Given the description of an element on the screen output the (x, y) to click on. 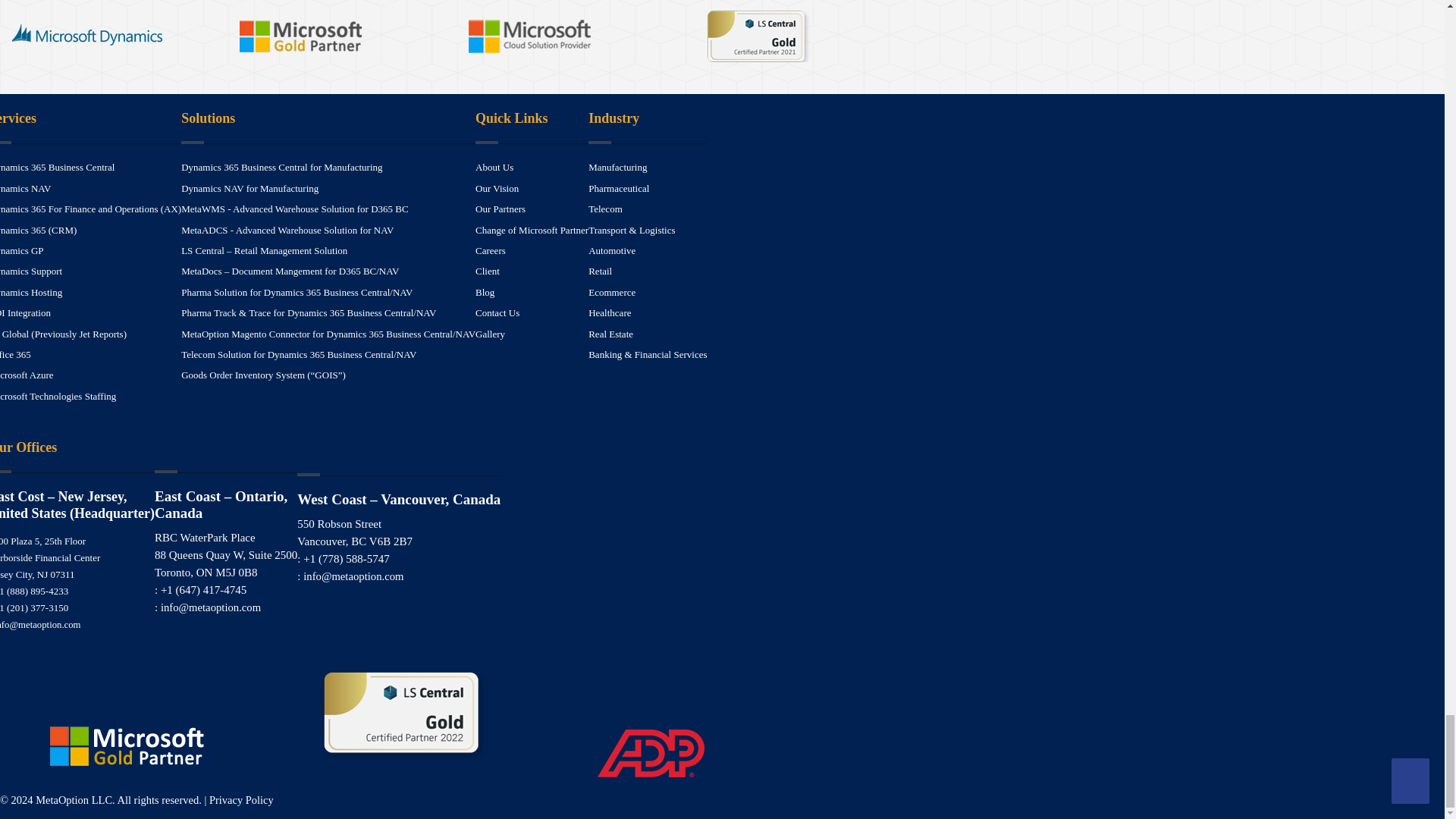
A new NAV for a new era (25, 188)
Dynamics 365 Business Central (57, 166)
Dynamics Support (31, 270)
Dynamics GP (21, 250)
